Given the description of an element on the screen output the (x, y) to click on. 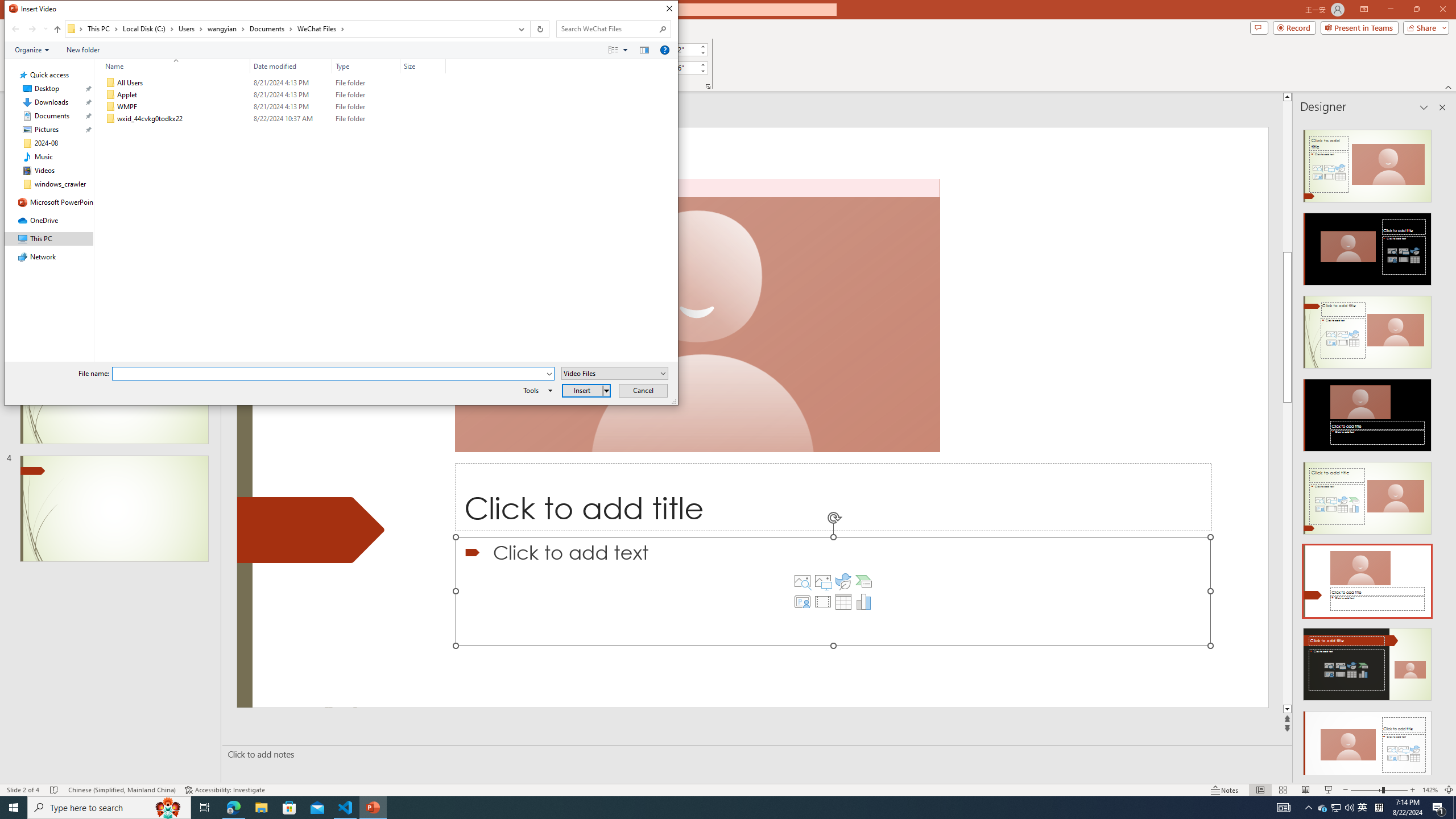
Date modified (290, 65)
Navigation buttons (28, 28)
Date modified (290, 119)
Size and Position... (707, 85)
Tools (535, 390)
&Help (664, 49)
Show desktop (1454, 807)
Insert Chart (863, 601)
